Given the description of an element on the screen output the (x, y) to click on. 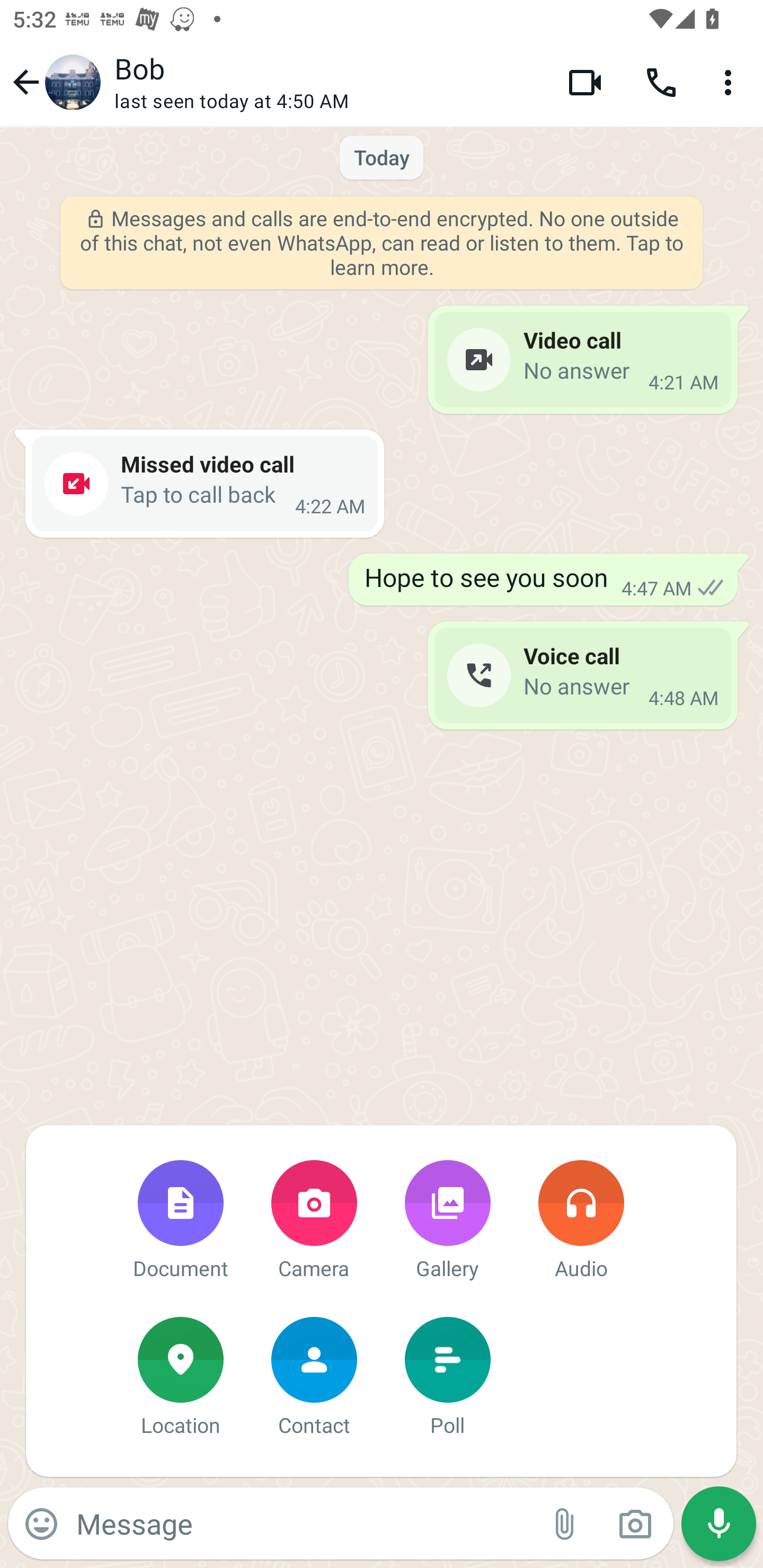
Document (180, 1221)
Camera (313, 1221)
Gallery (447, 1221)
Audio (580, 1221)
Location (180, 1378)
Contact (313, 1378)
Poll (447, 1378)
